Given the description of an element on the screen output the (x, y) to click on. 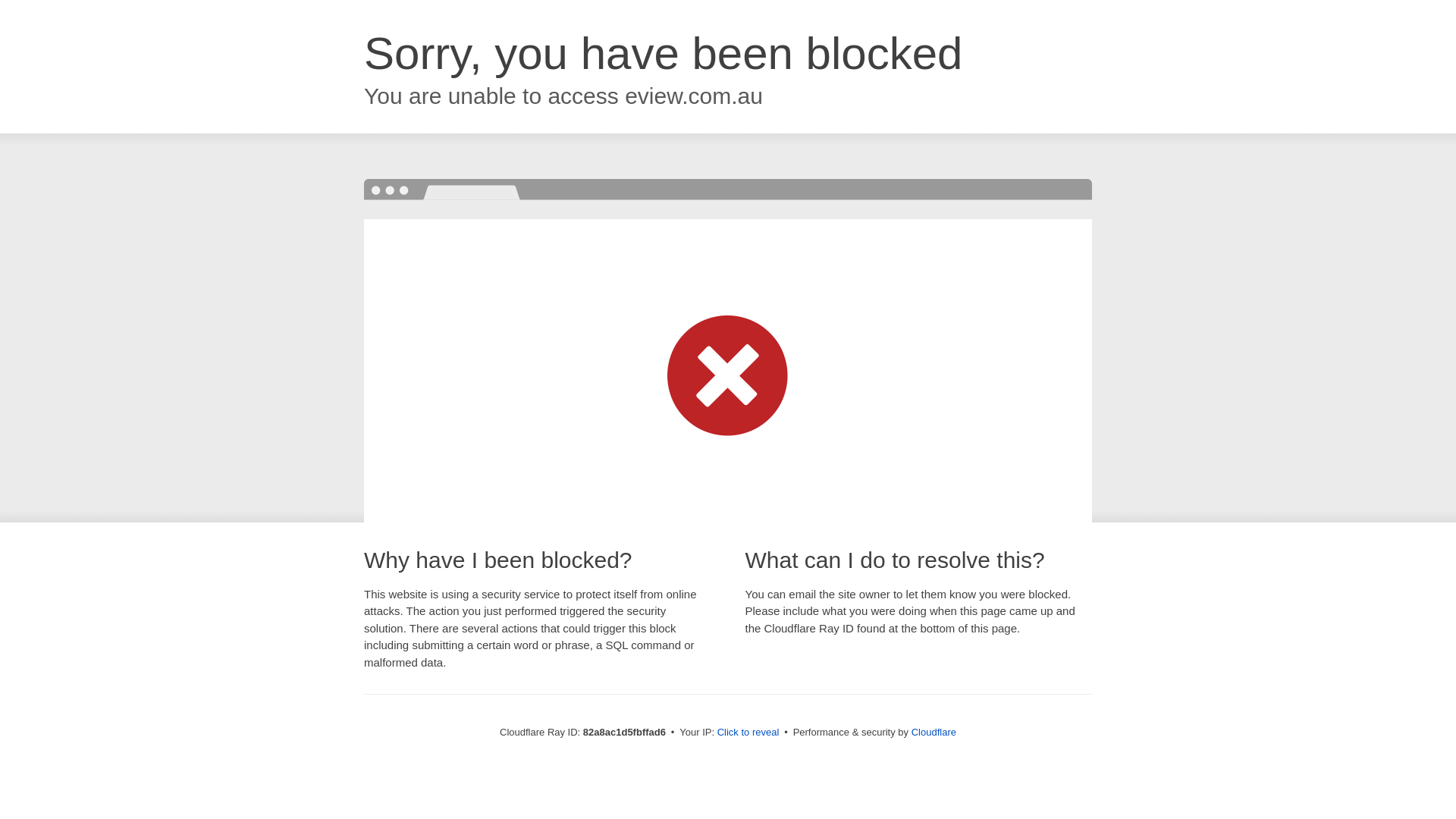
Click to reveal Element type: text (748, 732)
Cloudflare Element type: text (933, 731)
